Given the description of an element on the screen output the (x, y) to click on. 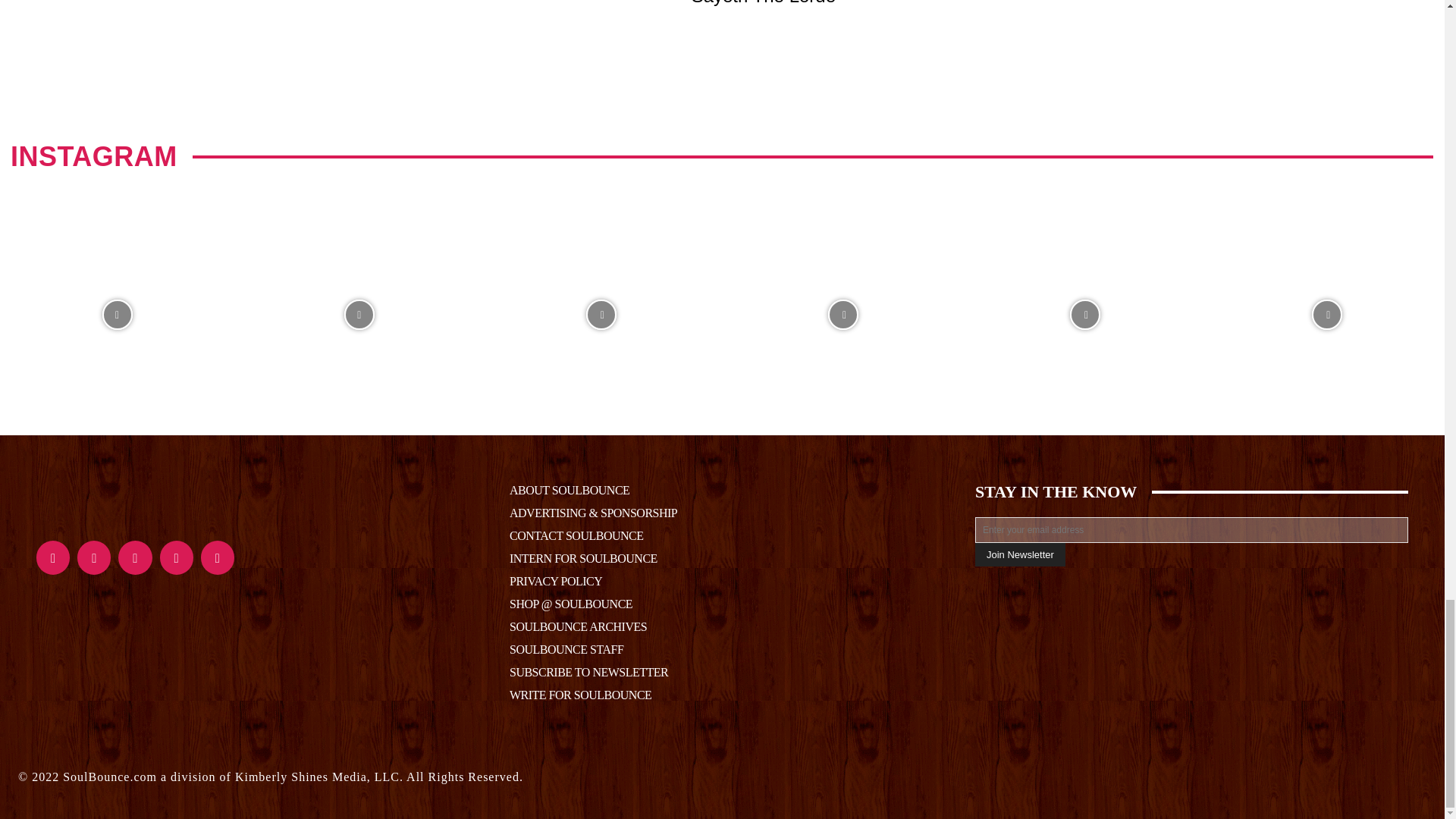
Join Newsletter (1020, 554)
